Given the description of an element on the screen output the (x, y) to click on. 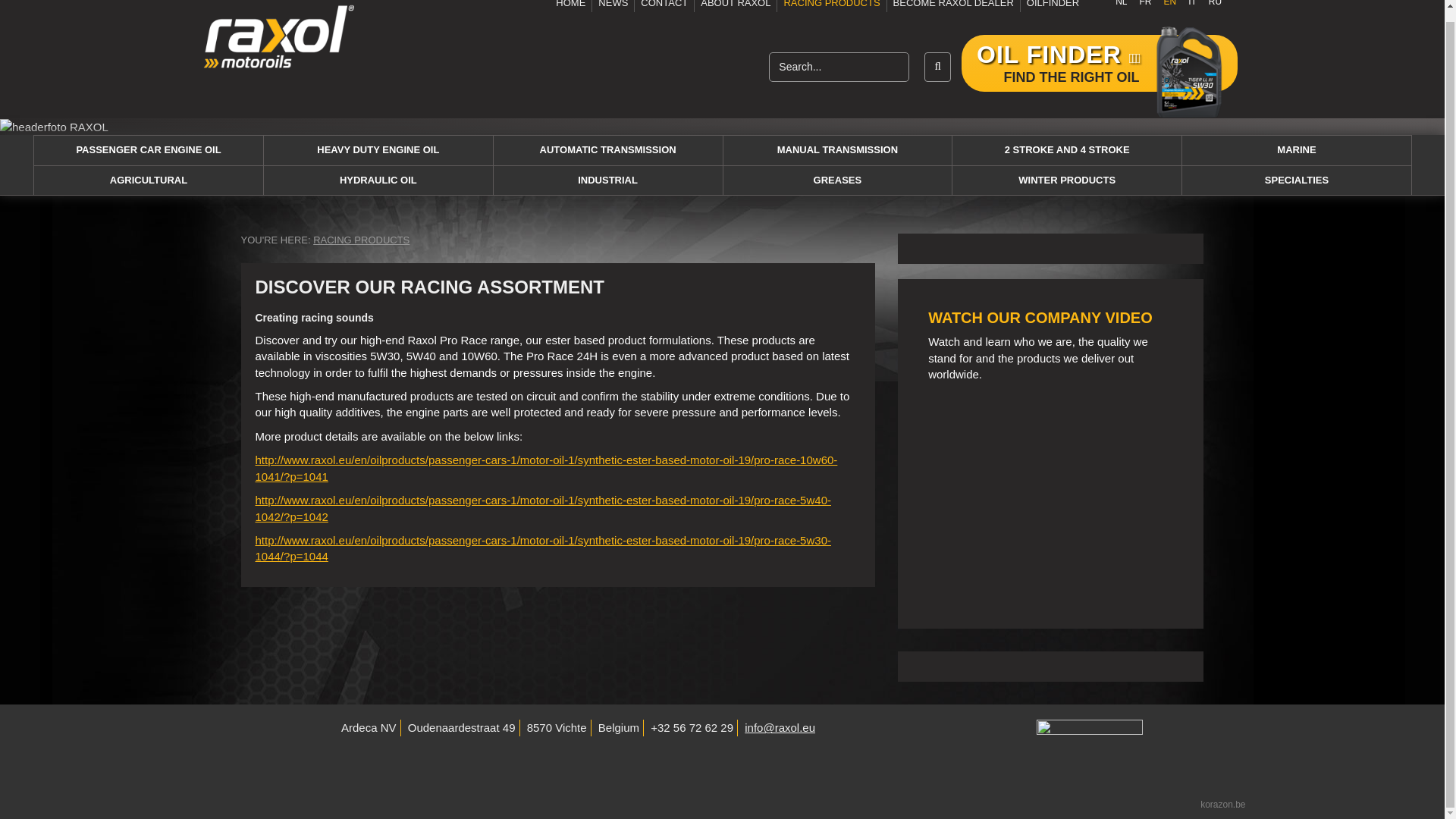
MANUAL TRANSMISSION (837, 150)
NL (1120, 5)
OILFINDER (1049, 6)
headerfoto RAXOL (53, 126)
PASSENGER CAR ENGINE OIL (148, 150)
RACING PRODUCTS (831, 6)
MARINE (1296, 150)
FR (1145, 5)
RU (1214, 5)
AGRICULTURAL (148, 180)
